Given the description of an element on the screen output the (x, y) to click on. 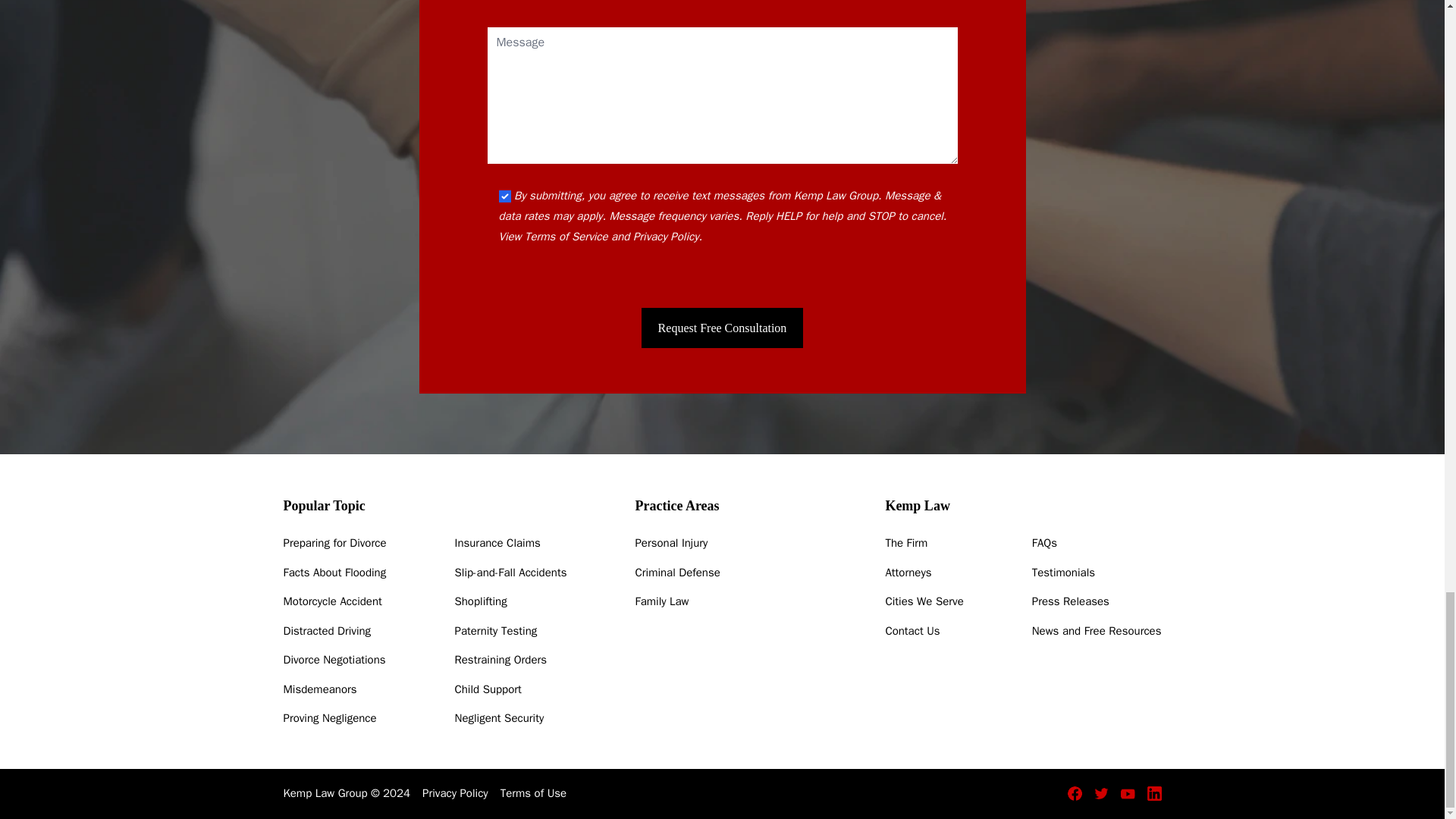
Request Free Consultation (722, 327)
1 (505, 196)
